Given the description of an element on the screen output the (x, y) to click on. 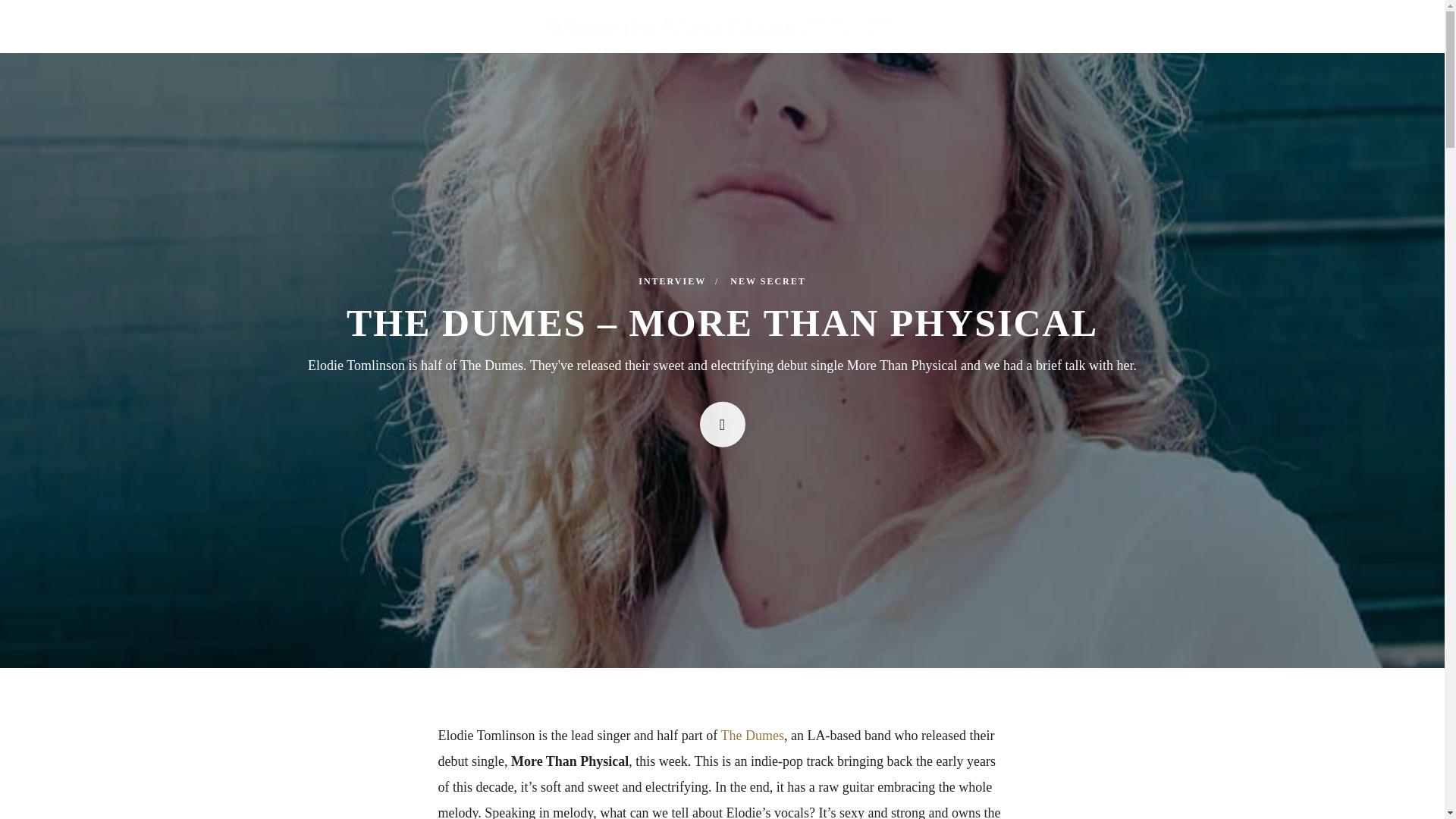
INTERVIEW (679, 280)
View all posts in interview (679, 280)
The Dumes (751, 735)
NEW SECRET (767, 280)
View all posts in new-secret (767, 280)
